Given the description of an element on the screen output the (x, y) to click on. 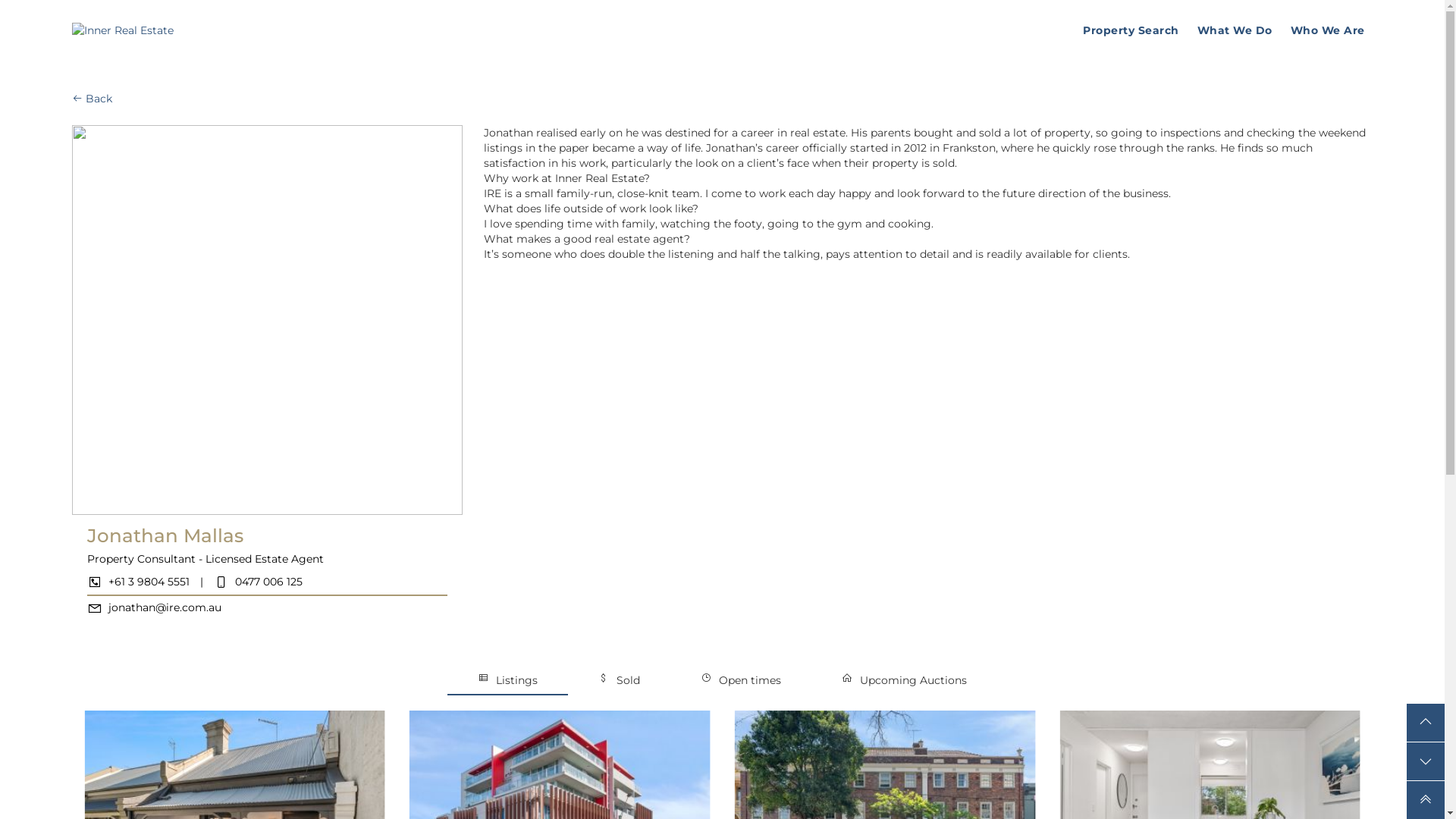
What We Do Element type: text (1234, 30)
+61 3 9804 5551 Element type: text (139, 581)
0477 006 125 Element type: text (257, 581)
Upcoming Auctions Element type: text (903, 680)
Sold Element type: text (619, 680)
Open times Element type: text (740, 680)
Back Element type: text (92, 98)
Property Search Element type: text (1130, 30)
Listings Element type: text (507, 680)
jonathan@ire.com.au Element type: text (154, 607)
Who We Are Element type: text (1327, 30)
